Given the description of an element on the screen output the (x, y) to click on. 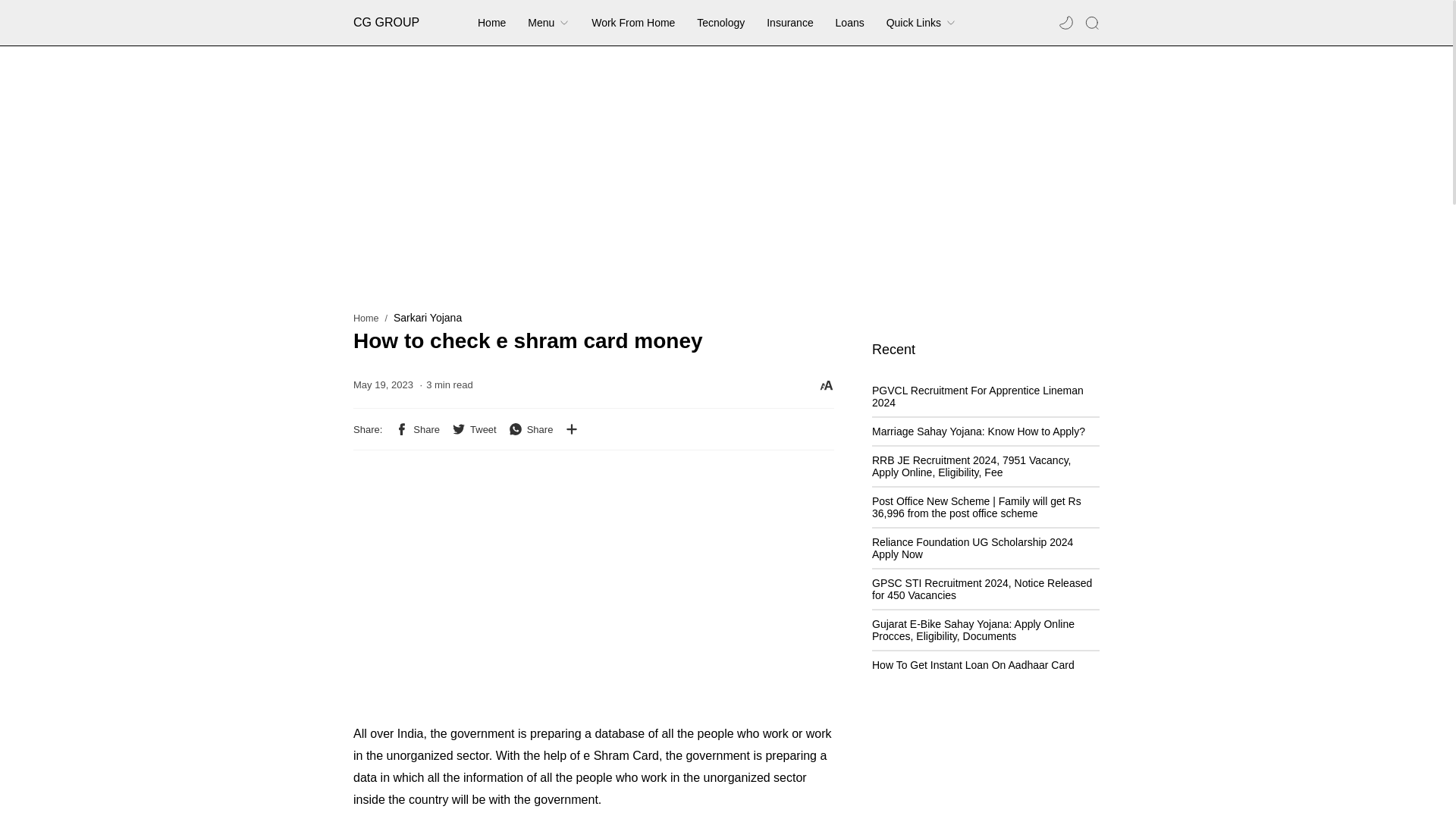
Work From Home (633, 22)
Insurance (789, 22)
How To Get Instant Loan On Aadhaar Card (973, 664)
Tecnology (720, 22)
CG GROUP (429, 22)
Published: May 19, 2023 (383, 384)
PGVCL Recruitment For Apprentice Lineman 2024 (977, 396)
Loans (849, 22)
GPSC STI Recruitment 2024, Notice Released for 450 Vacancies (982, 589)
